Given the description of an element on the screen output the (x, y) to click on. 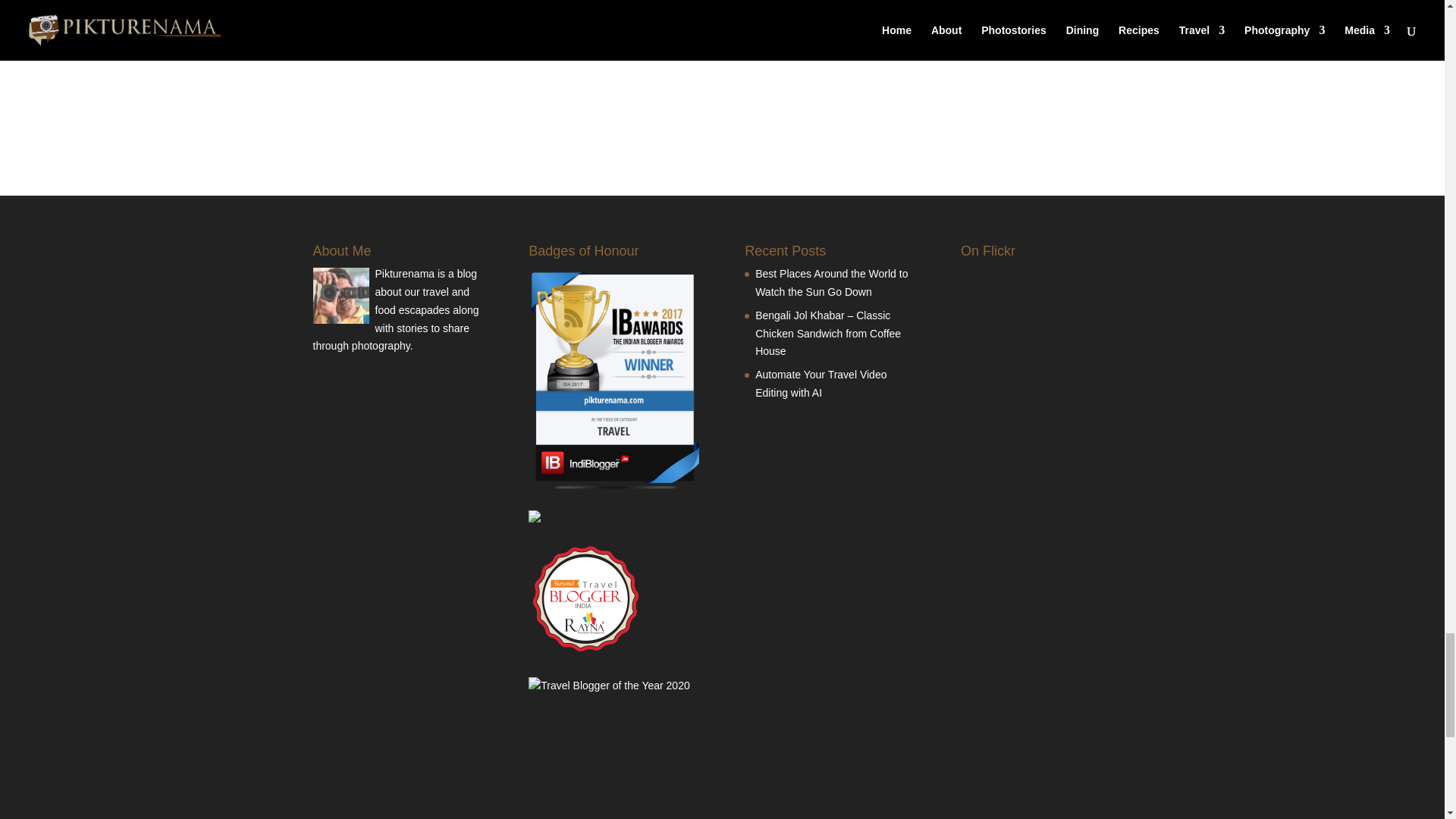
Rayna Tours (585, 656)
